Given the description of an element on the screen output the (x, y) to click on. 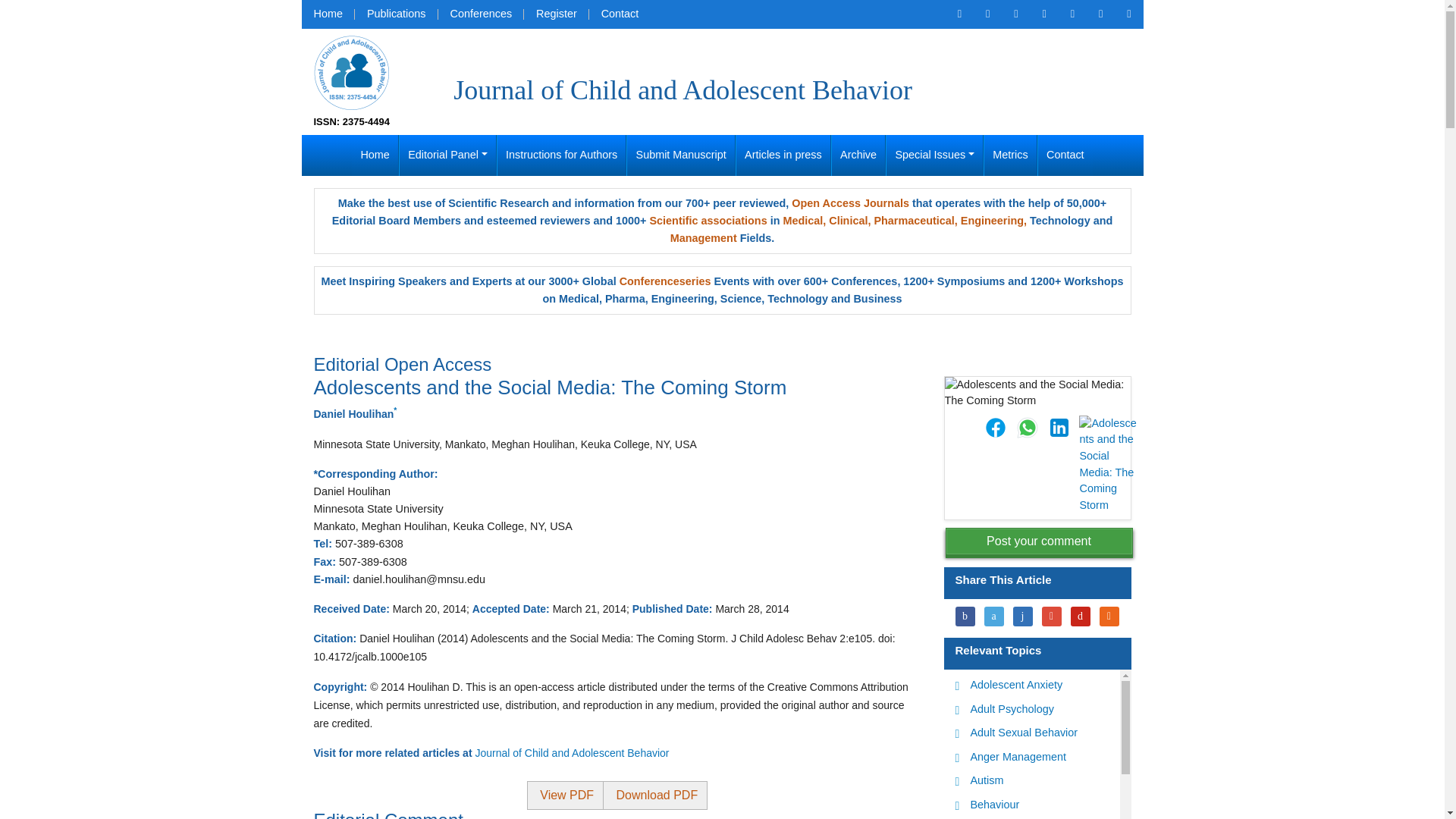
Metrics (1010, 155)
Contact (1065, 155)
Editorial Panel (447, 155)
Pharmaceutical, (914, 220)
Omics Slideshare (1100, 14)
Open Access Journals (850, 203)
Instructions for Authors (561, 155)
Archive (858, 155)
Omics Twitter (1015, 14)
Journal of Child and Adolescent Behavior (352, 70)
Articles in press (782, 155)
Management (702, 237)
Clinical, (849, 220)
Scientific associations (708, 220)
Special Issues (934, 155)
